Given the description of an element on the screen output the (x, y) to click on. 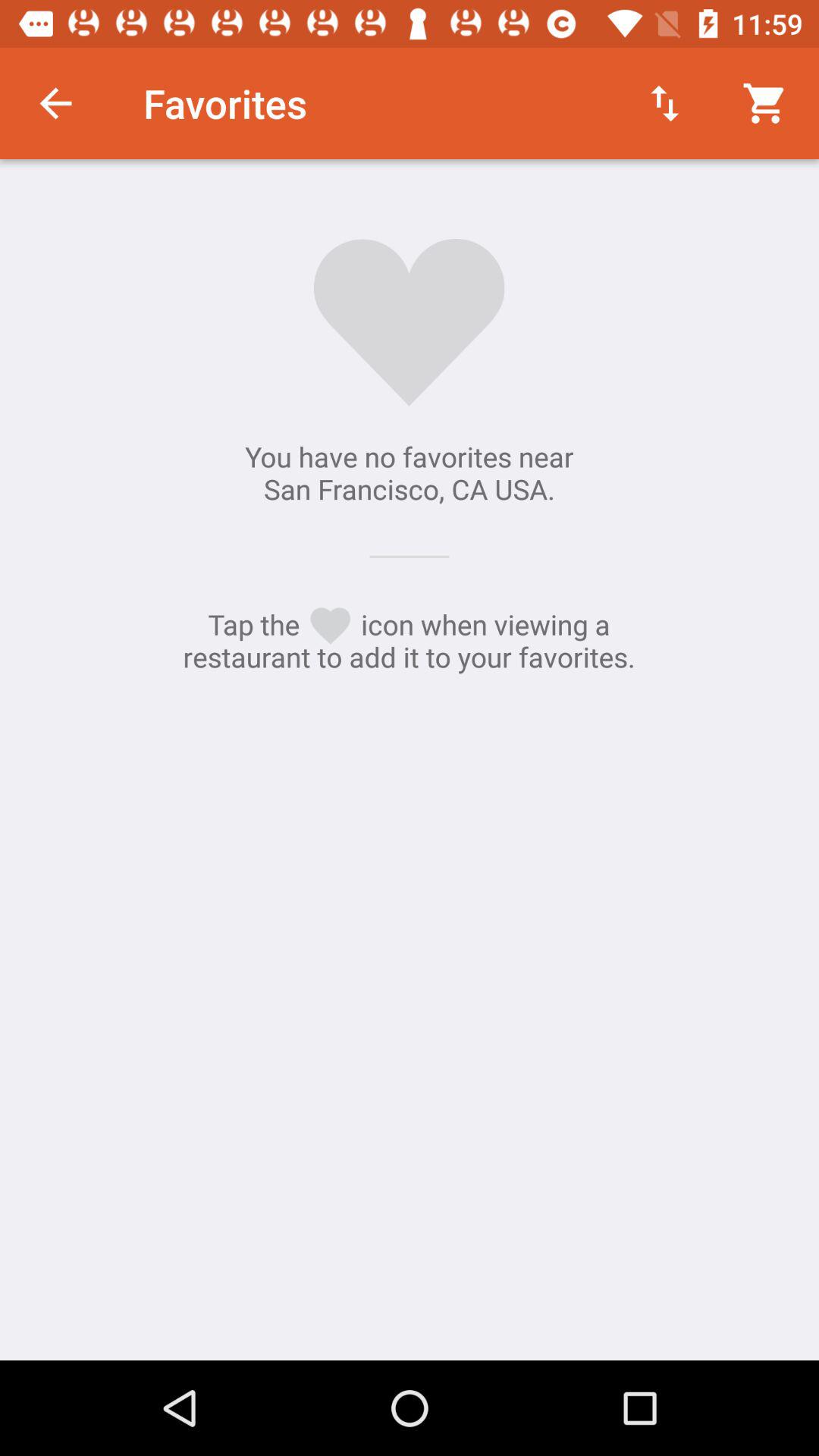
choose icon above you have no icon (55, 103)
